Given the description of an element on the screen output the (x, y) to click on. 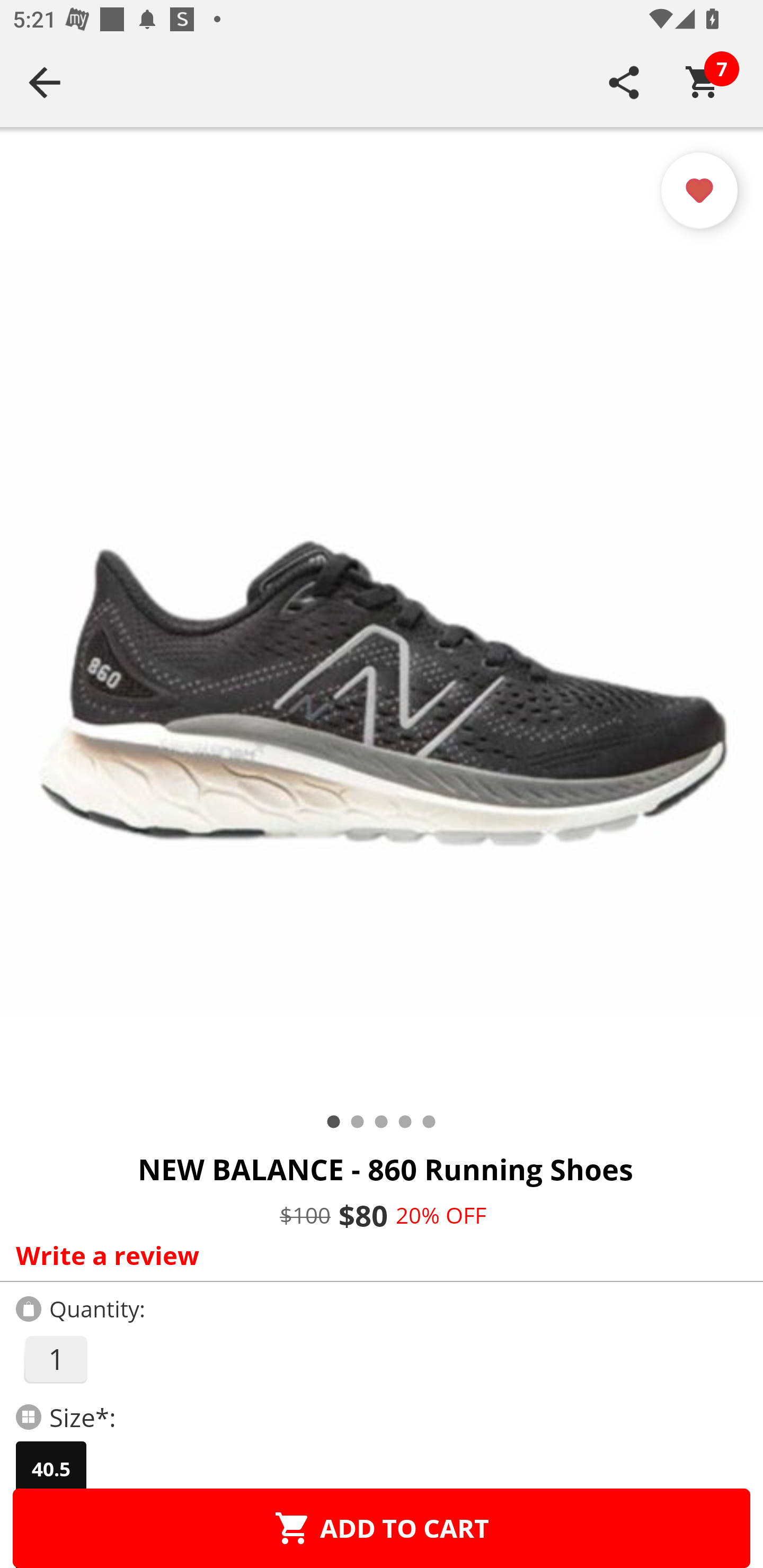
Navigate up (44, 82)
SHARE (623, 82)
Cart (703, 81)
Write a review (377, 1255)
1 (55, 1358)
40.5 (51, 1468)
ADD TO CART (381, 1528)
